Given the description of an element on the screen output the (x, y) to click on. 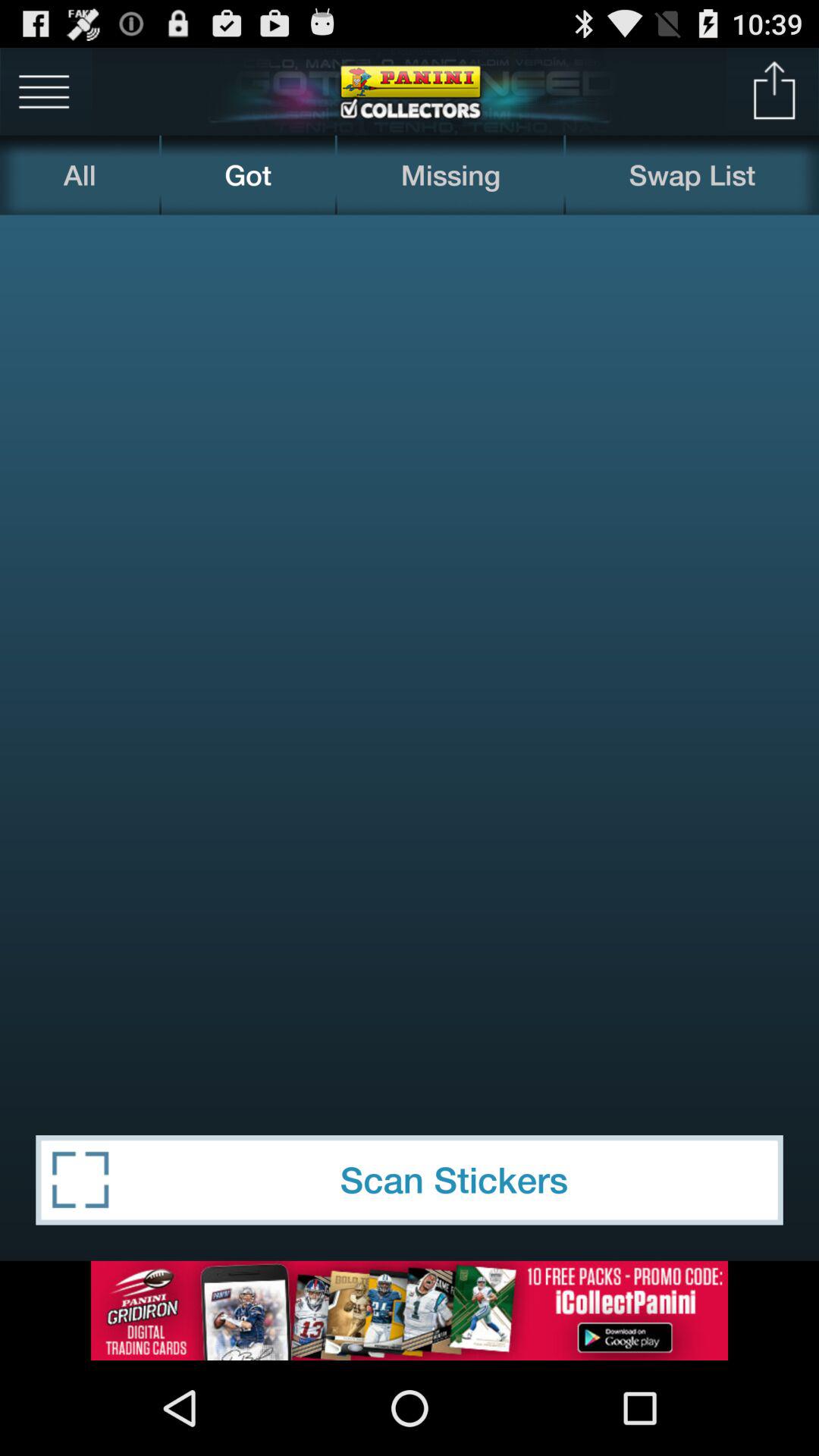
press all icon (79, 174)
